Given the description of an element on the screen output the (x, y) to click on. 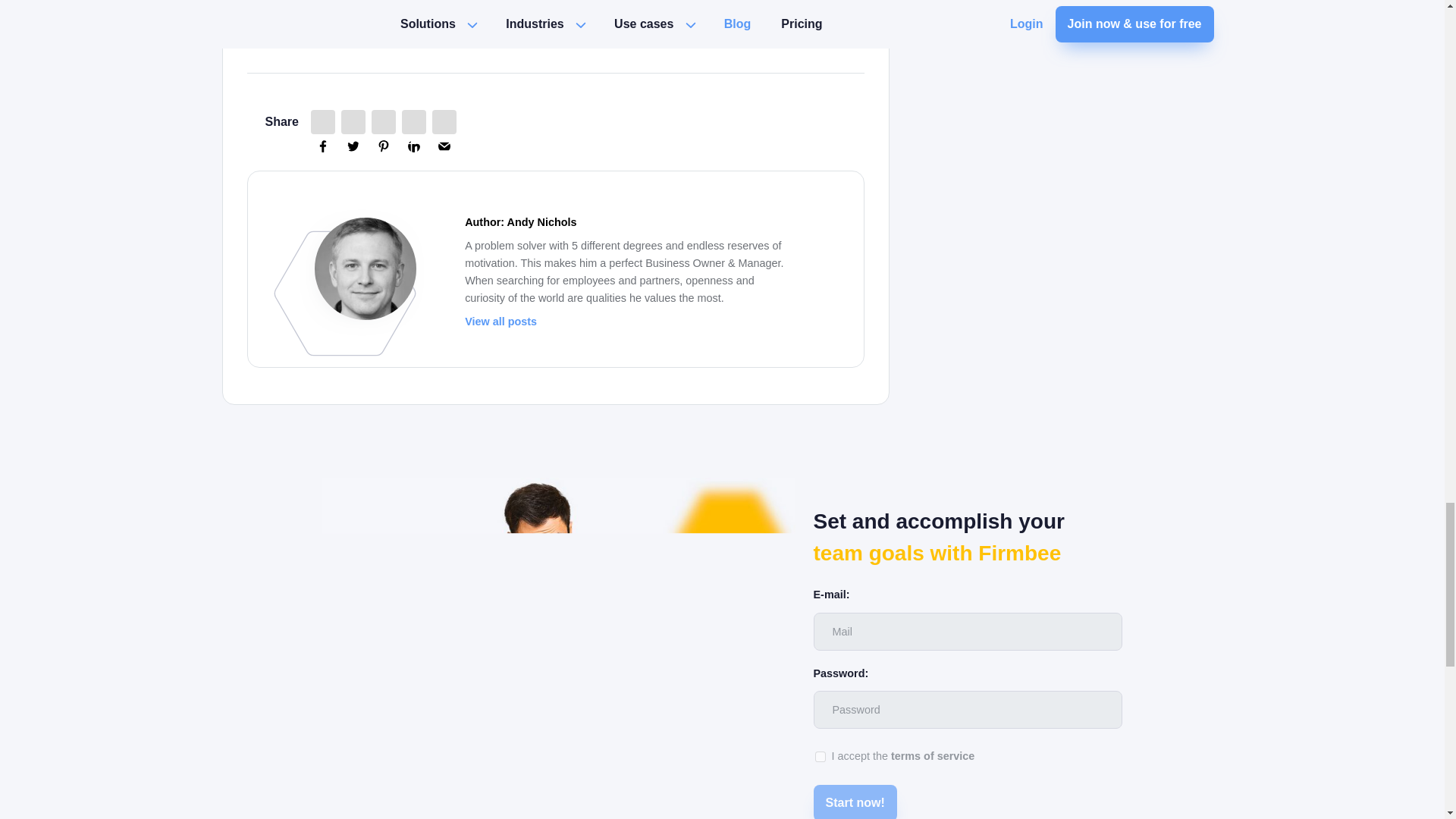
Does location matter? Choosing the right startup office 3 (365, 268)
Does location matter? Choosing the right startup office 4 (344, 293)
on (820, 756)
